Given the description of an element on the screen output the (x, y) to click on. 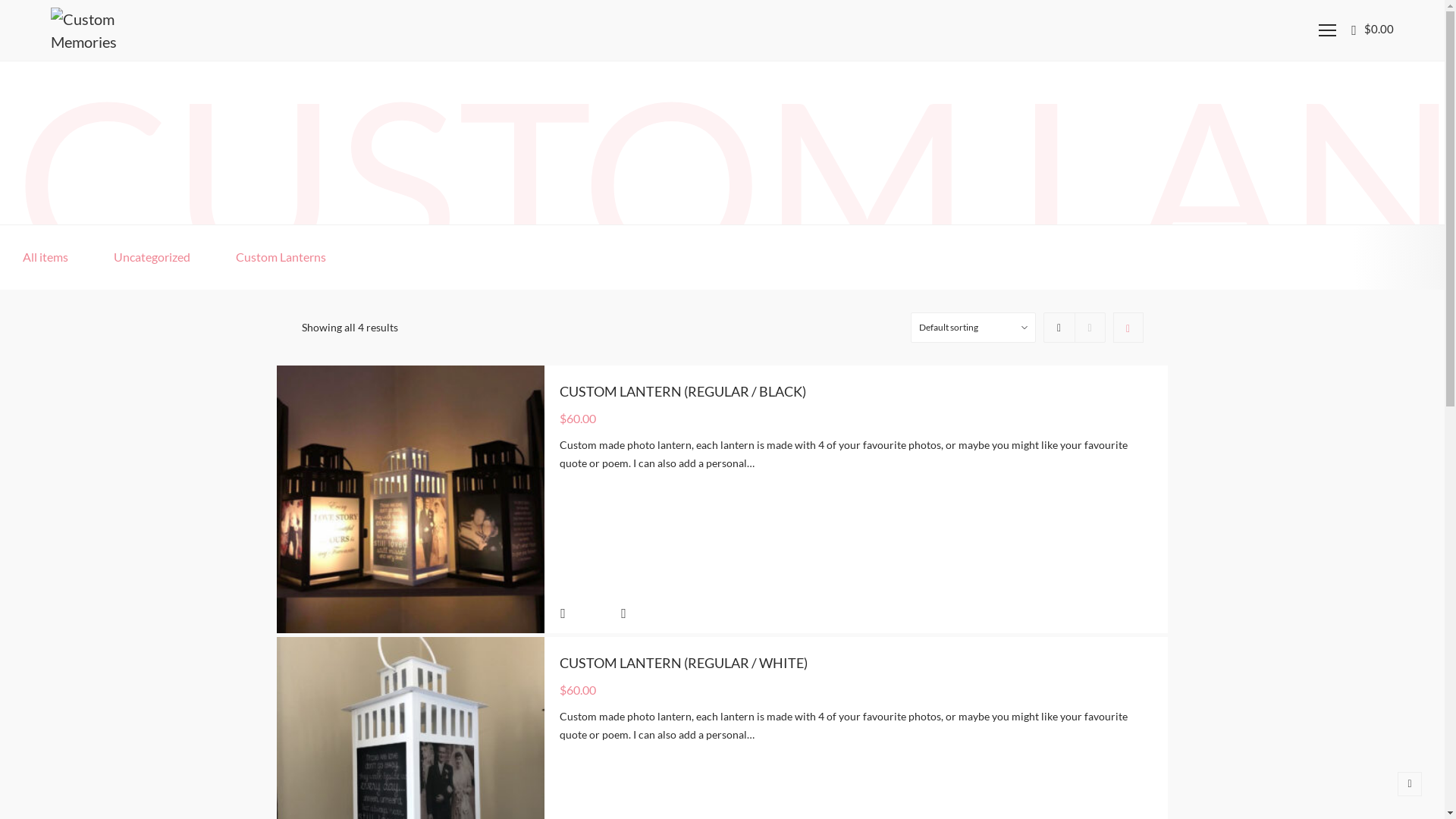
CUSTOM LANTERN (REGULAR / WHITE) Element type: text (683, 661)
Uncategorized Element type: text (152, 256)
All items Element type: text (45, 256)
List Element type: hover (1088, 327)
Custom Lanterns Element type: text (280, 256)
CUSTOM LANTERN (REGULAR / BLACK) Element type: text (682, 390)
Grid Element type: hover (1058, 327)
Back to top Element type: hover (1409, 783)
